Given the description of an element on the screen output the (x, y) to click on. 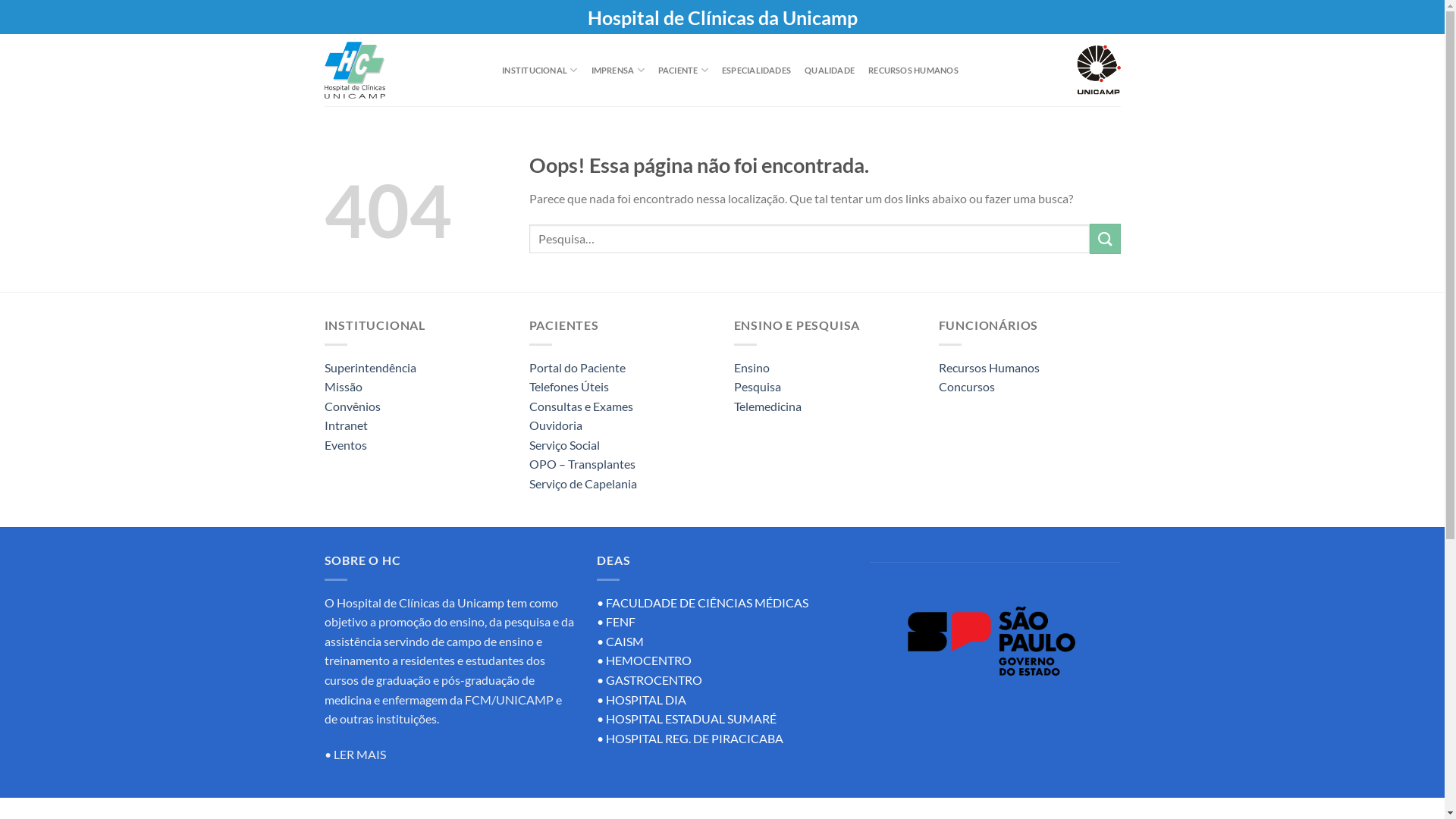
Portal do Paciente Element type: text (577, 367)
INSTITUCIONAL Element type: text (539, 69)
Eventos Element type: text (345, 444)
Ouvidoria Element type: text (555, 424)
IMPRENSA Element type: text (617, 69)
DEAS Element type: text (613, 559)
Concursos Element type: text (966, 386)
Pesquisa Element type: text (757, 386)
Recursos Humanos Element type: text (988, 367)
Skip to content Element type: text (0, 0)
Telemedicina Element type: text (767, 405)
Intranet Element type: text (345, 424)
QUALIDADE Element type: text (829, 69)
ESPECIALIDADES Element type: text (755, 69)
Consultas e Exames Element type: text (581, 405)
PACIENTE Element type: text (683, 69)
RECURSOS HUMANOS Element type: text (913, 69)
Ensino Element type: text (751, 367)
